Given the description of an element on the screen output the (x, y) to click on. 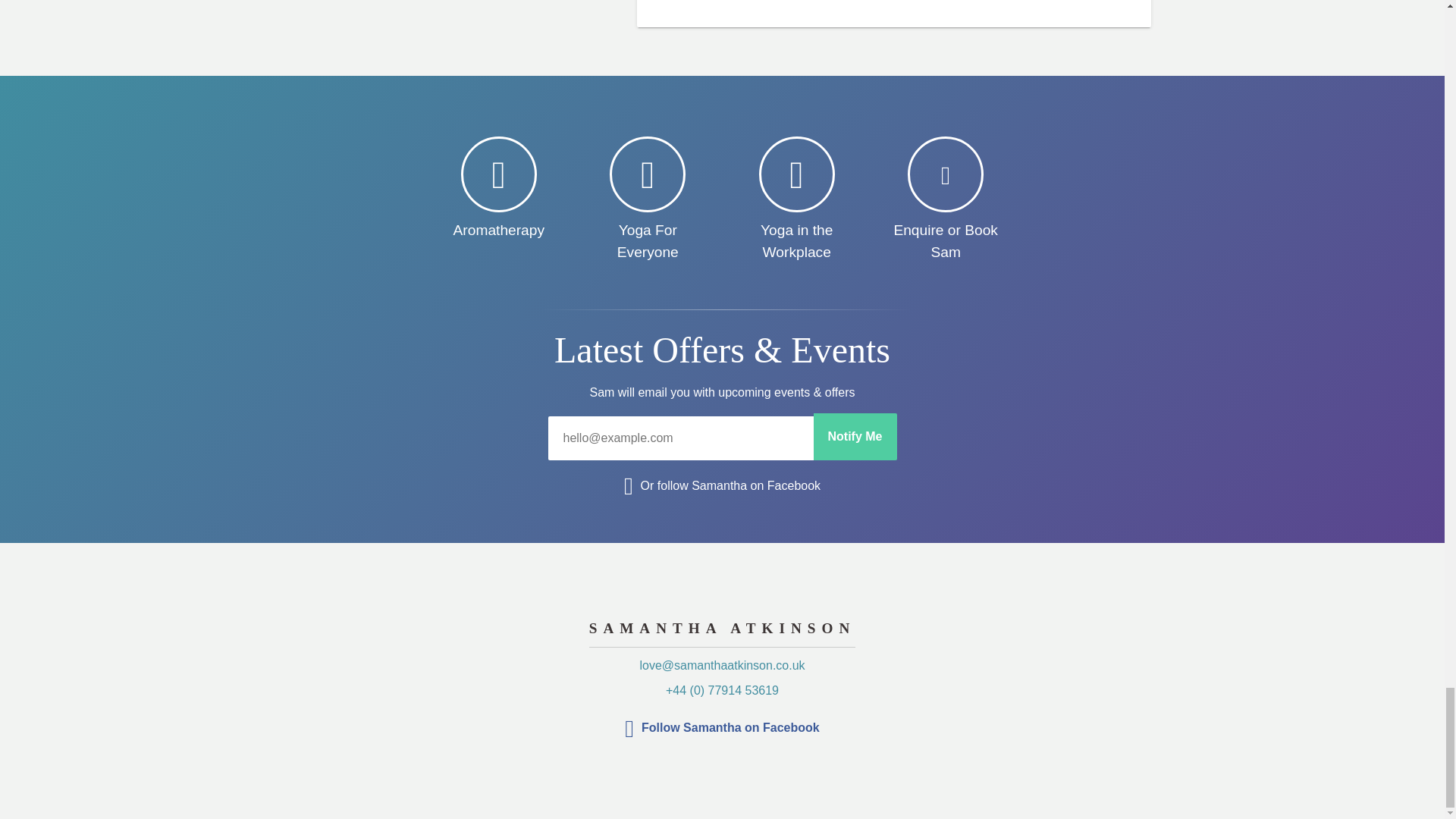
Yoga For Everyone (647, 200)
Follow Samantha on Facebook (721, 728)
Notify Me (854, 436)
Yoga in the Workplace (796, 200)
Follow Samantha on Facebook (722, 486)
Or follow Samantha on Facebook (722, 486)
Aromatherapy (499, 189)
Enquire or Book Sam (944, 200)
Follow Samantha on Facebook (721, 728)
Notify Me (854, 436)
